Given the description of an element on the screen output the (x, y) to click on. 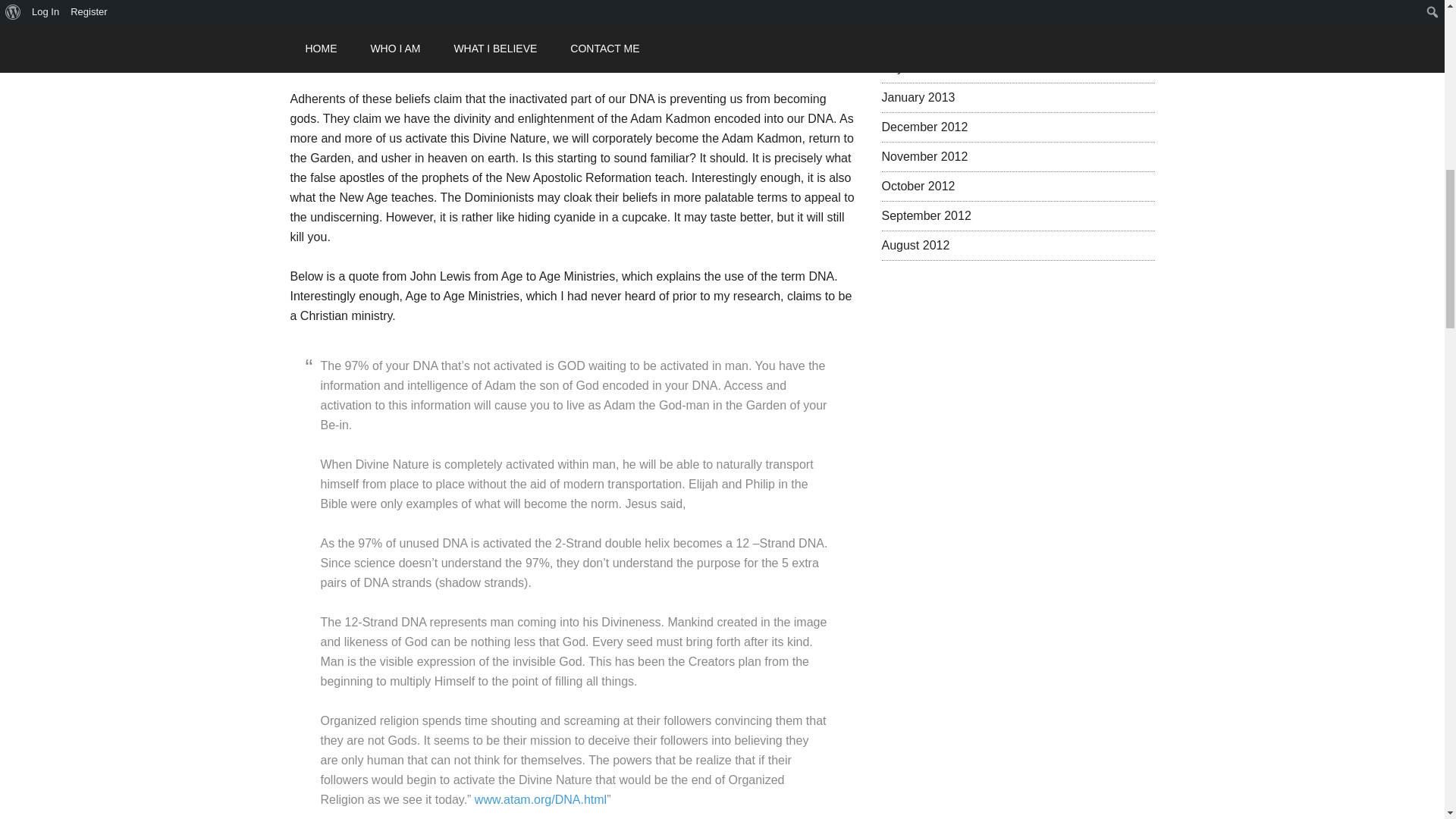
November 2020 (924, 8)
August 2016 (914, 38)
January 2013 (917, 97)
July 2015 (906, 67)
